Given the description of an element on the screen output the (x, y) to click on. 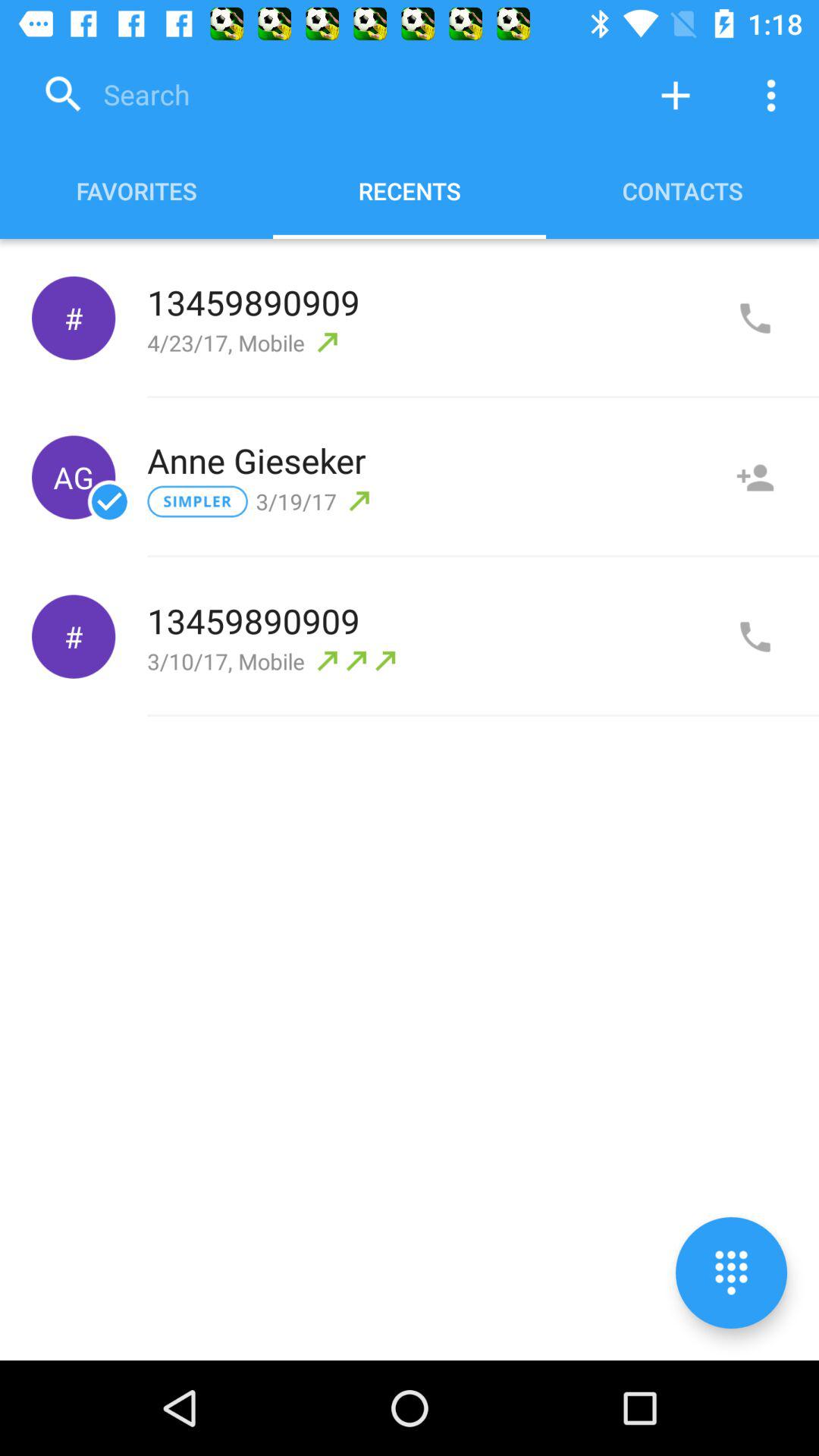
switch to numeric keypad (731, 1272)
